Given the description of an element on the screen output the (x, y) to click on. 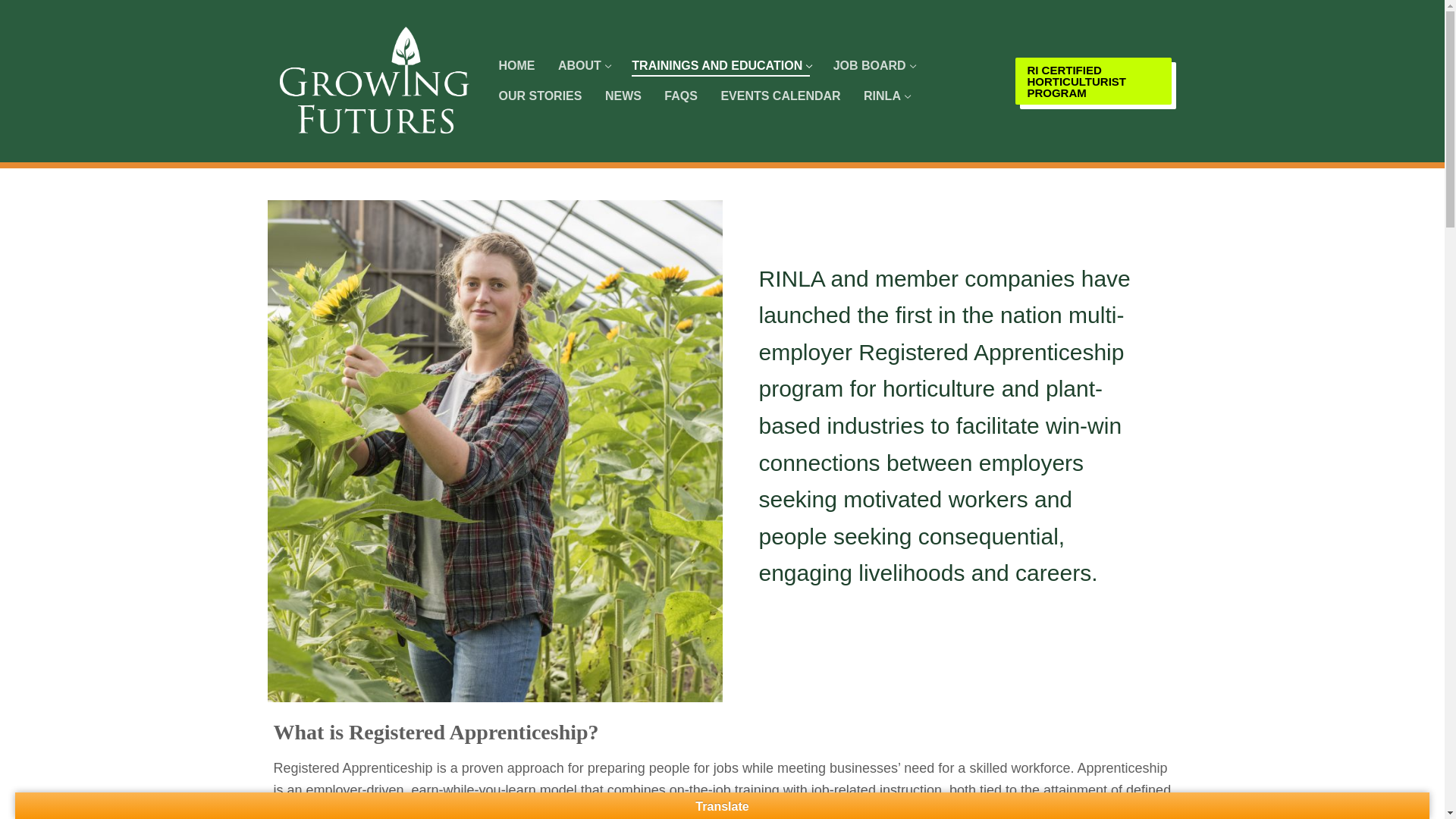
NEWS (873, 65)
RI CERTIFIED HORTICULTURIST PROGRAM (622, 96)
EVENTS CALENDAR (885, 96)
OUR STORIES (583, 65)
HOME (720, 65)
FAQS (1092, 80)
